Given the description of an element on the screen output the (x, y) to click on. 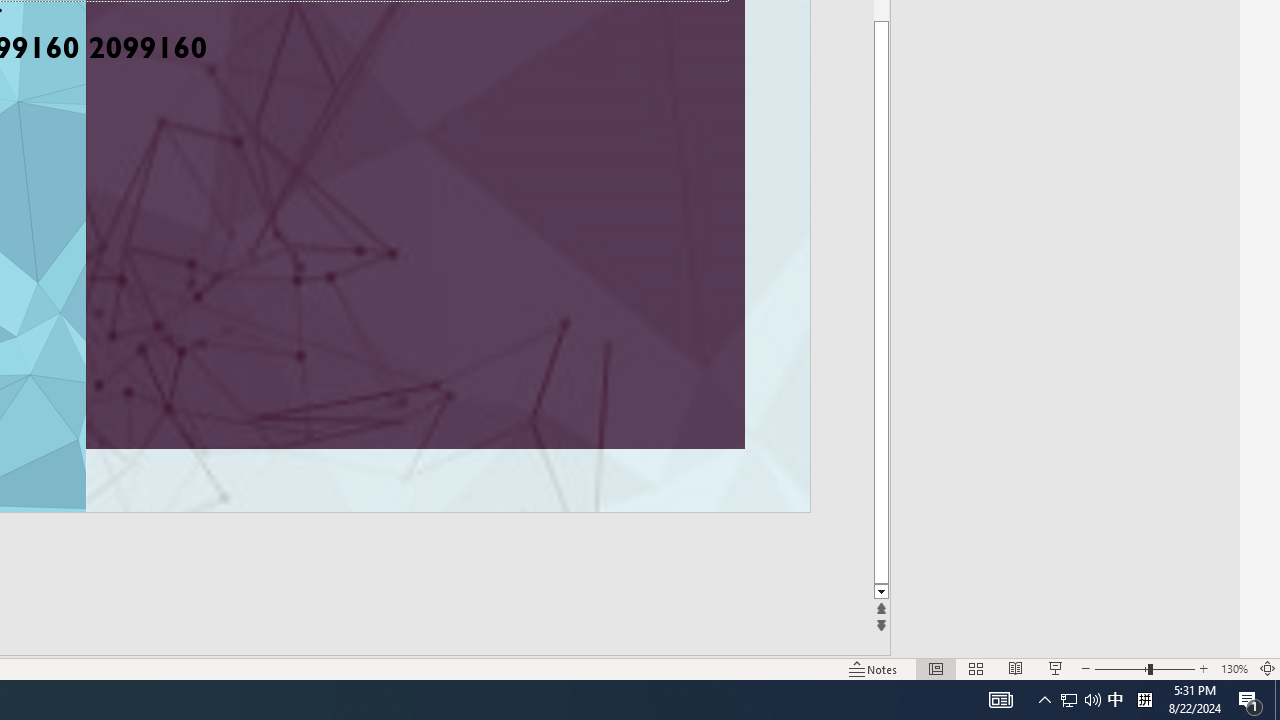
Zoom 130% (1234, 668)
